Given the description of an element on the screen output the (x, y) to click on. 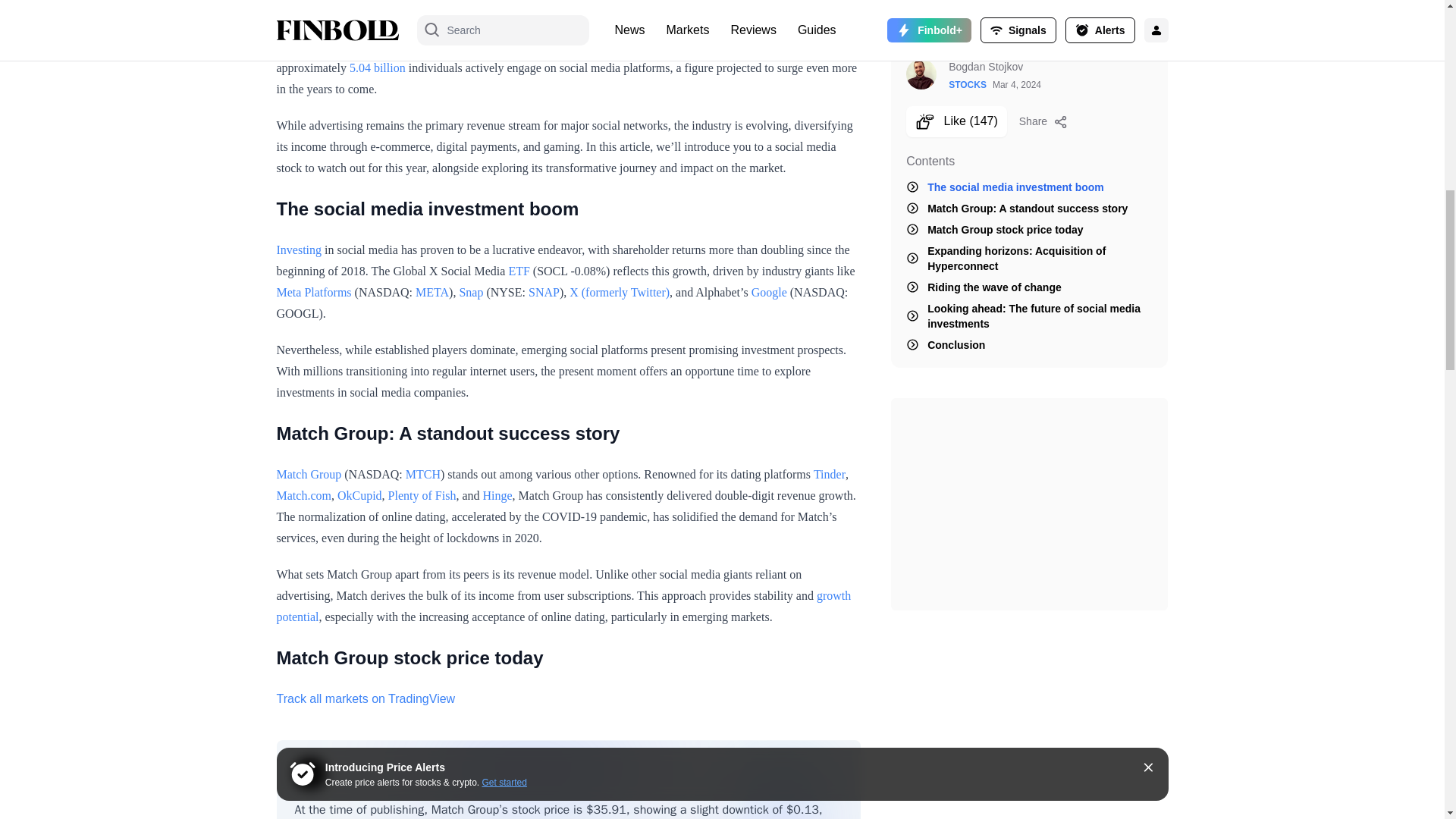
Advertisement (568, 12)
